Given the description of an element on the screen output the (x, y) to click on. 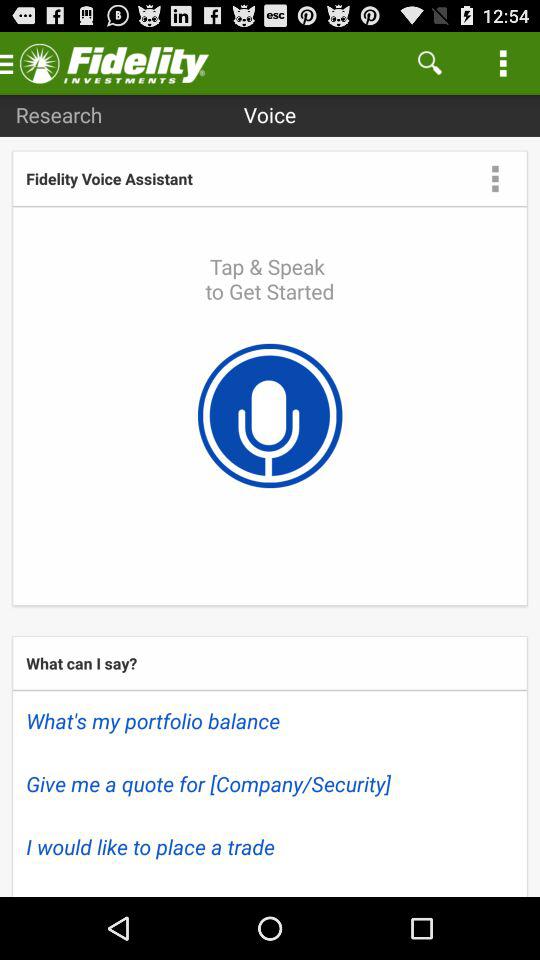
choose item to the left of voice app (58, 114)
